Given the description of an element on the screen output the (x, y) to click on. 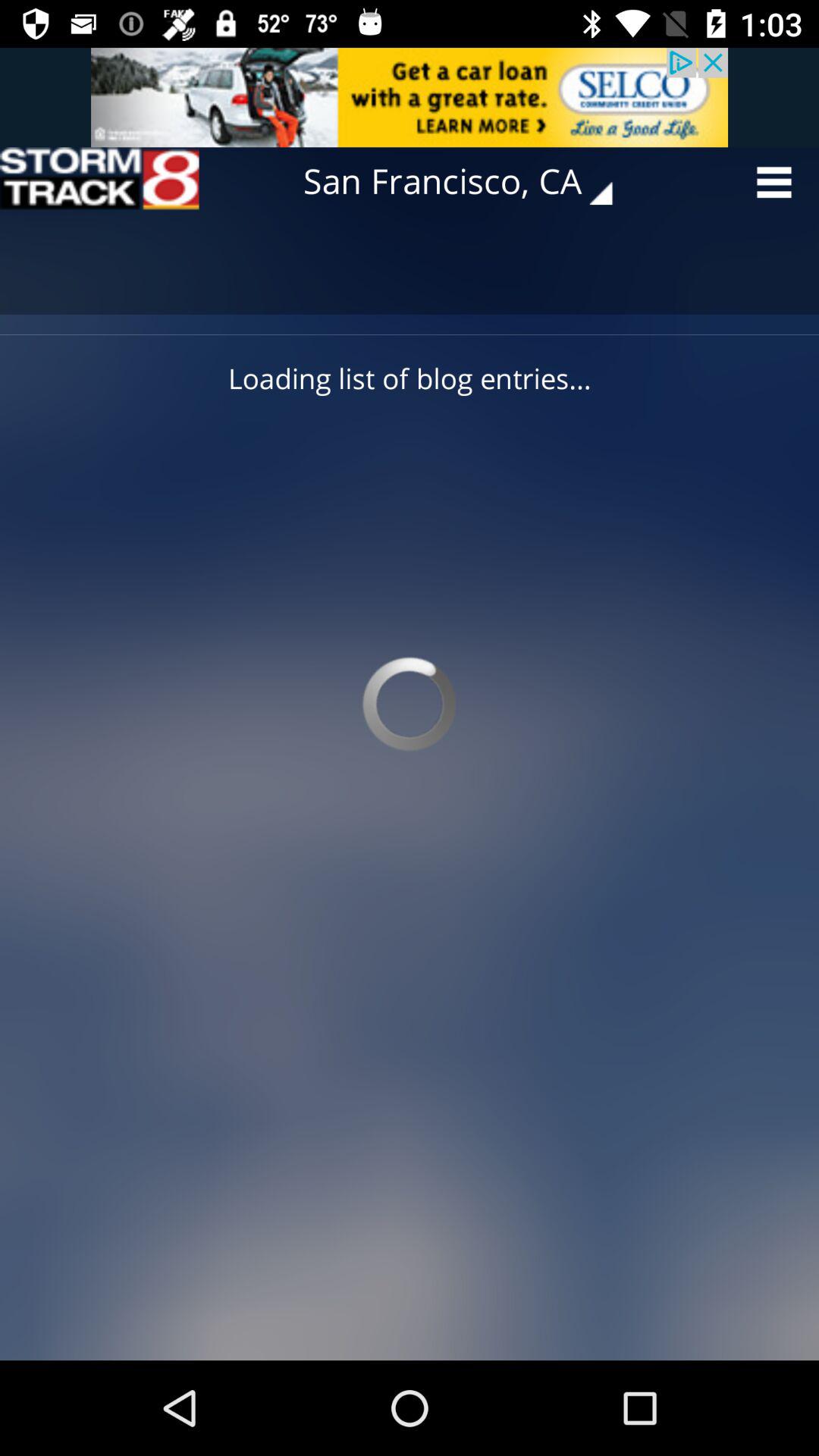
view advertisement (409, 97)
